Given the description of an element on the screen output the (x, y) to click on. 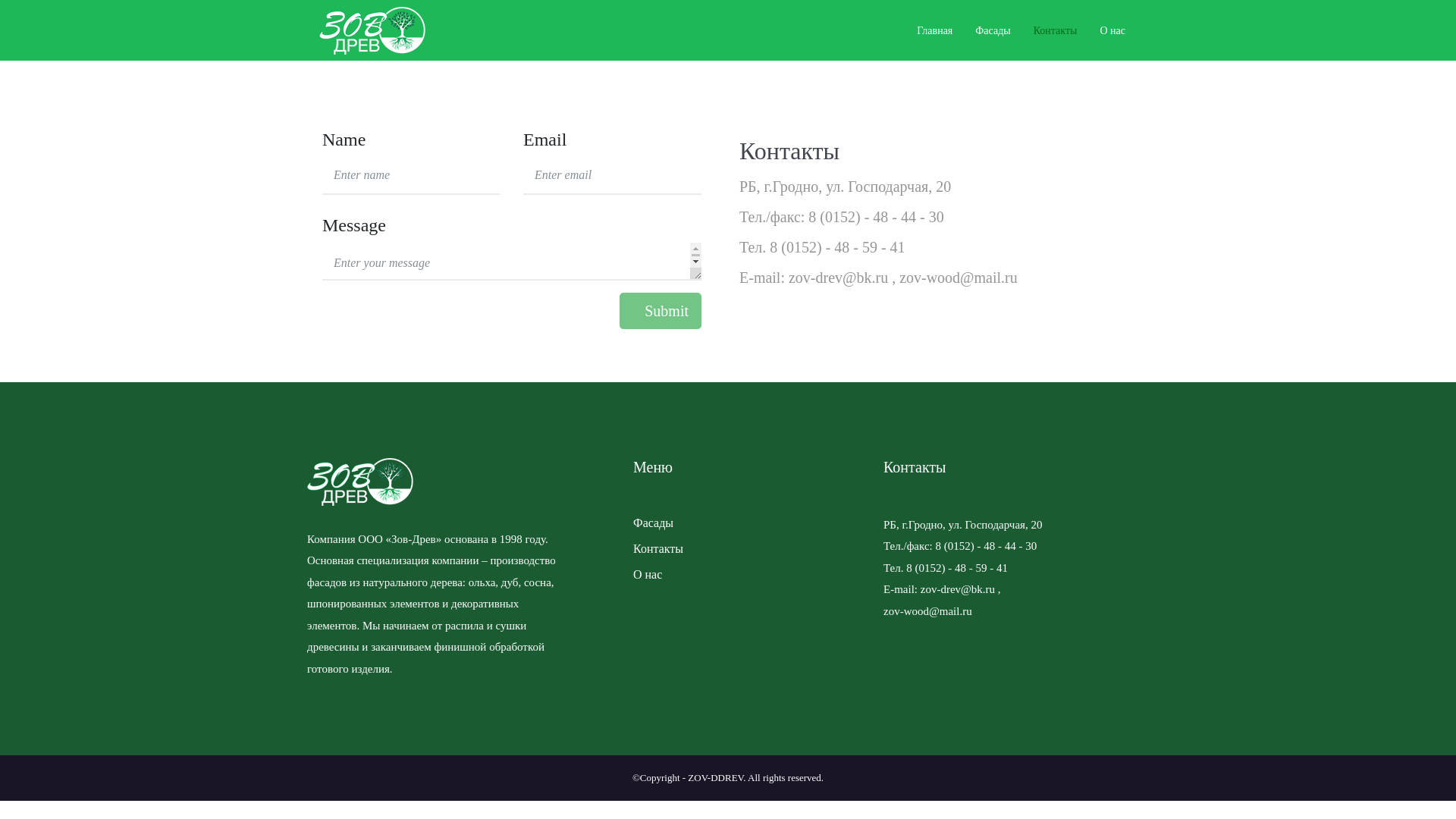
Submit Element type: text (660, 310)
